Given the description of an element on the screen output the (x, y) to click on. 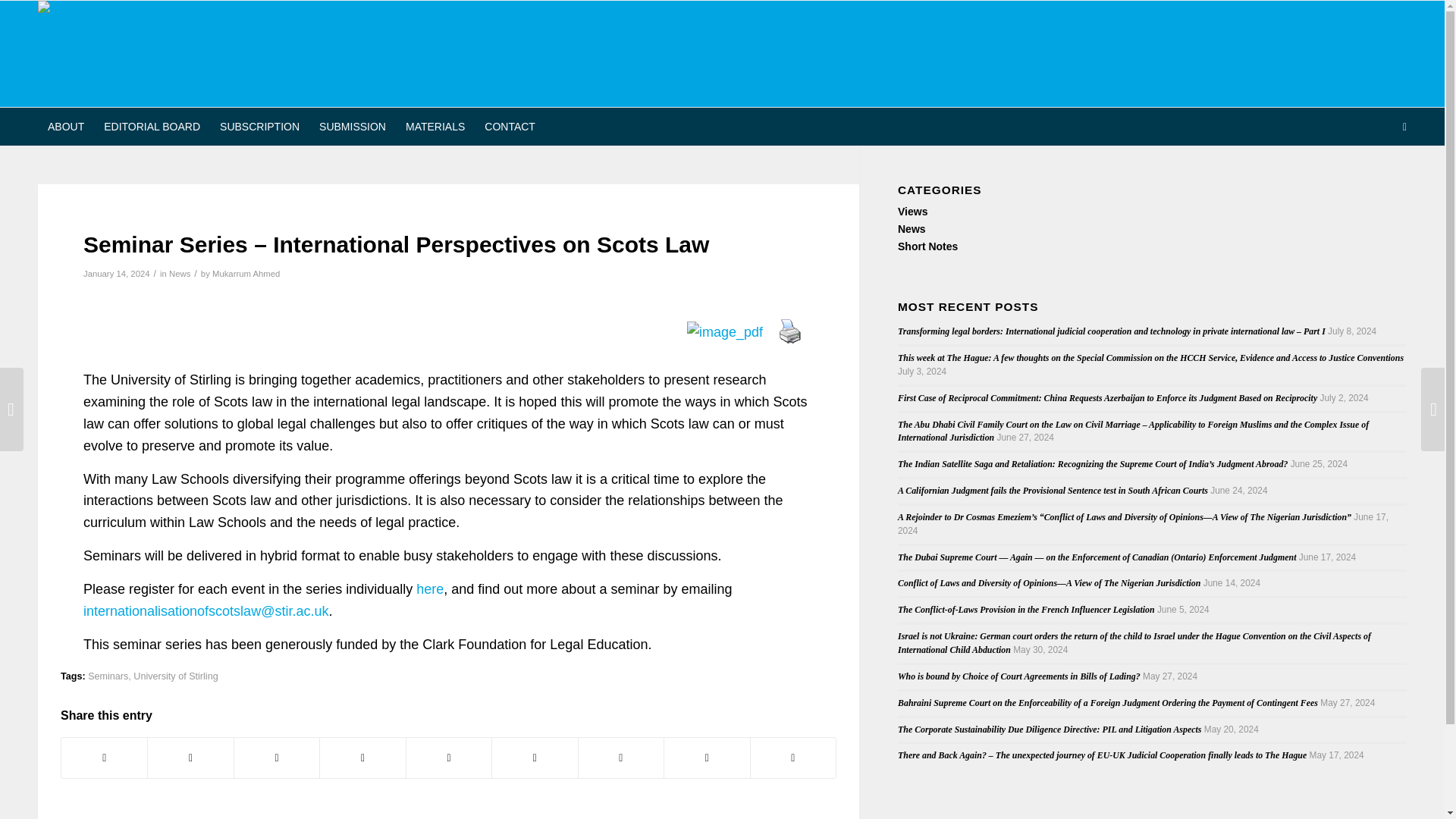
SUBMISSION (352, 126)
here (430, 589)
Short Notes (928, 246)
CONTACT (509, 126)
Mukarrum Ahmed (245, 273)
ABOUT (65, 126)
News (912, 228)
Views (912, 211)
Print Content (790, 331)
University of Stirling (174, 675)
Seminars (107, 675)
News (179, 273)
MATERIALS (435, 126)
